Given the description of an element on the screen output the (x, y) to click on. 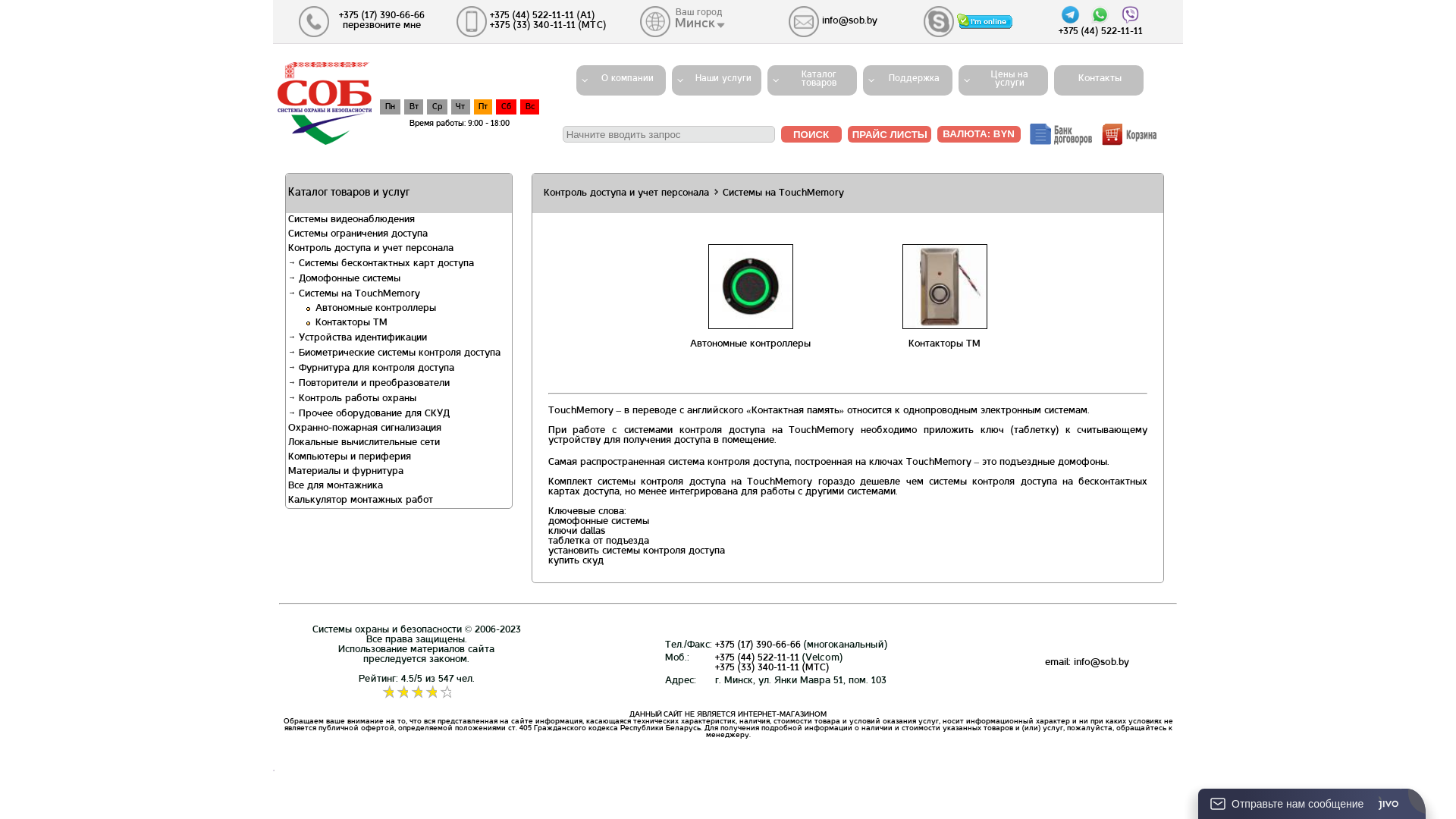
+375 (44) 522-11-11 Element type: text (757, 657)
+375 (17) 390-66-66 Element type: text (757, 644)
